Given the description of an element on the screen output the (x, y) to click on. 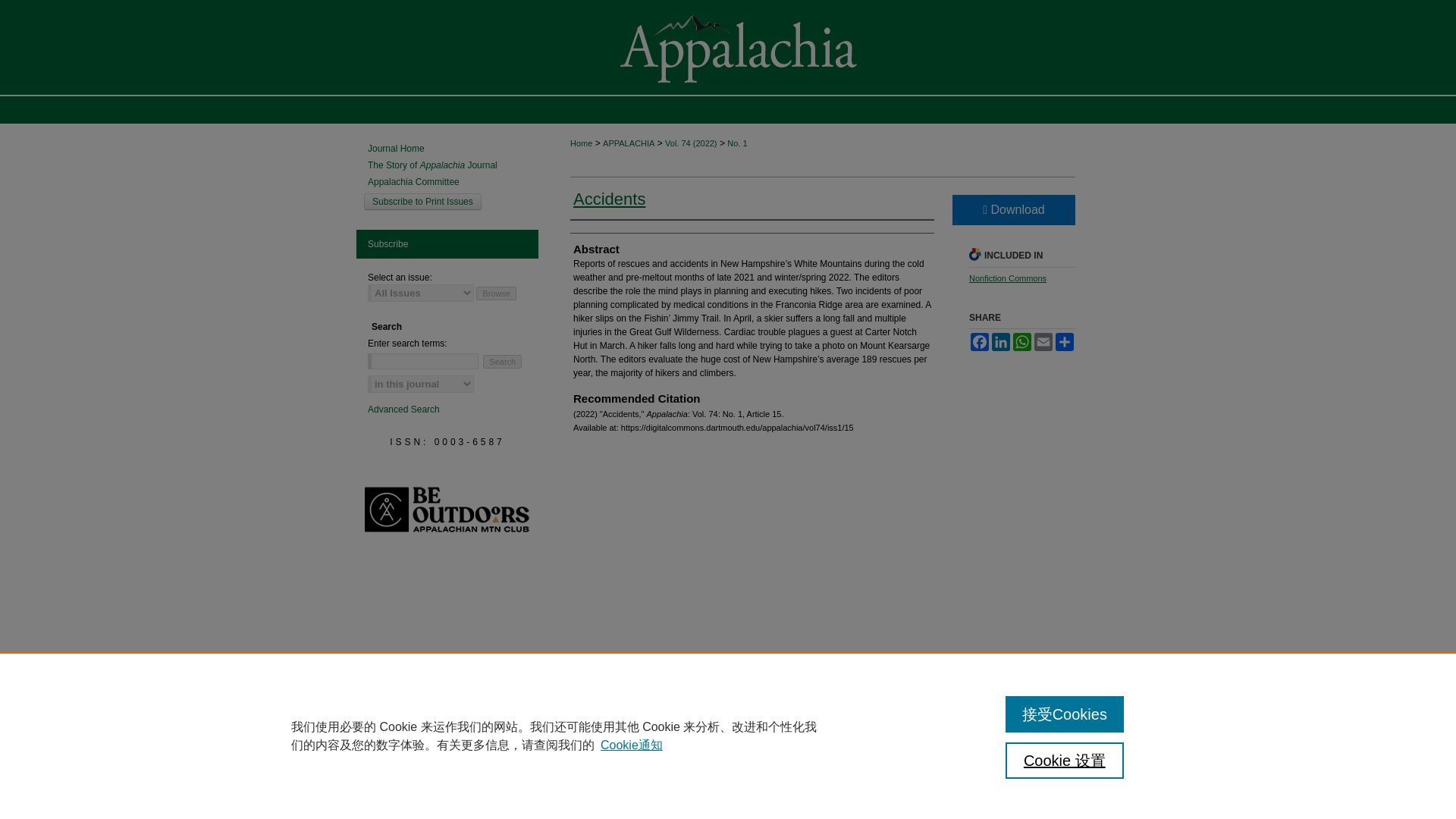
Subscribe to Print Issues (422, 201)
The Story of Appalachia Journal (453, 164)
Journal Home (453, 148)
Home (574, 785)
Facebook (979, 341)
Search (502, 361)
Nonfiction Commons (1007, 277)
Subscribe to Print Issues (422, 201)
LinkedIn (1000, 341)
About (618, 785)
Nonfiction Commons (1007, 277)
Browse (496, 293)
Extra Image Link (447, 551)
No. 1 (736, 143)
Advanced Search (403, 409)
